Given the description of an element on the screen output the (x, y) to click on. 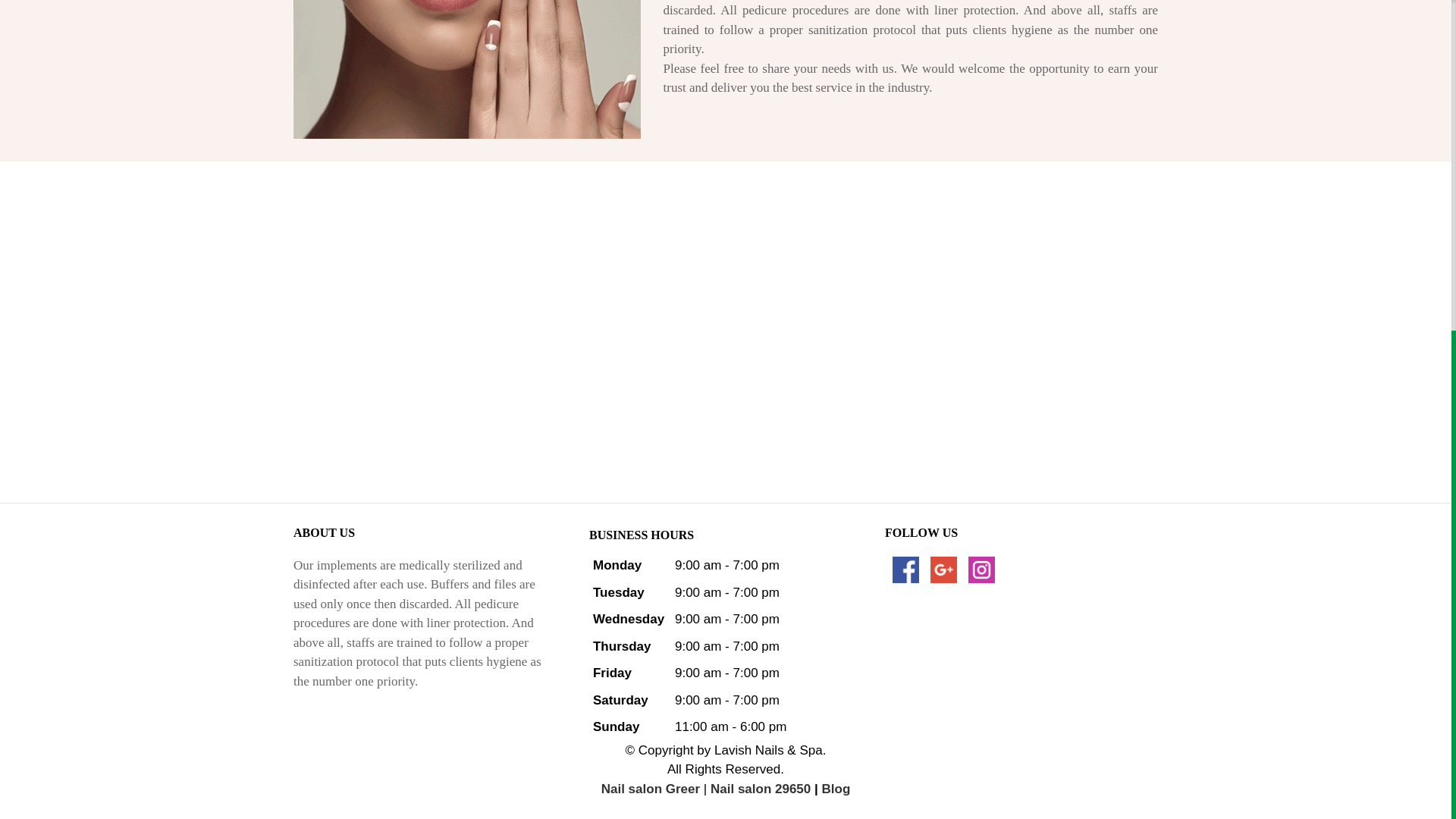
Blog (836, 789)
Nail salon Greer (650, 789)
Nail salon 29650 (760, 789)
